Given the description of an element on the screen output the (x, y) to click on. 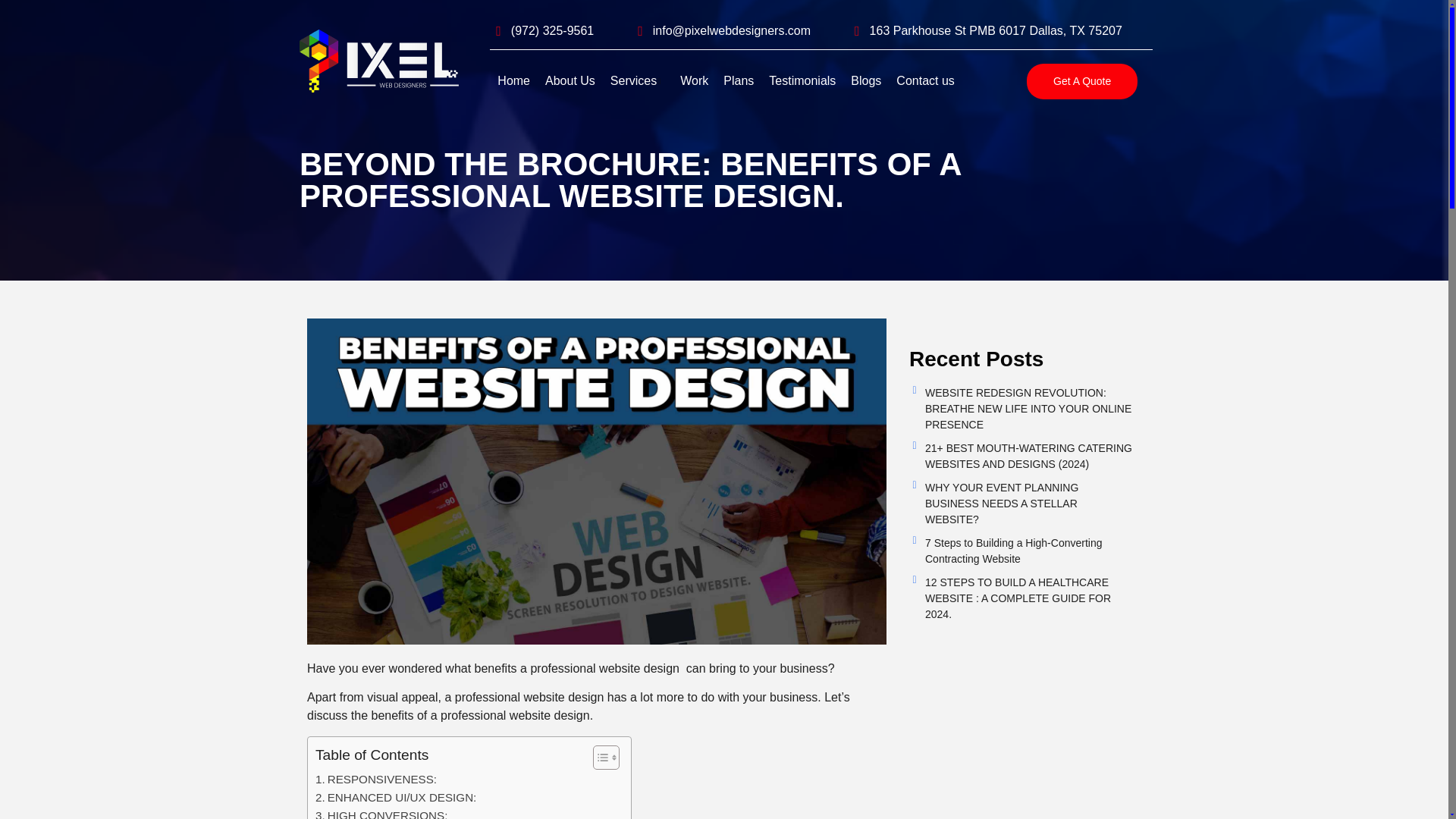
About Us (569, 81)
RESPONSIVENESS: (375, 779)
RESPONSIVENESS: (375, 779)
Work (694, 81)
Services (637, 81)
HIGH CONVERSIONS: (380, 812)
Testimonials (802, 81)
Plans (738, 81)
HIGH CONVERSIONS: (380, 812)
Home (513, 81)
Contact us (924, 81)
Get A Quote (1081, 81)
Blogs (865, 81)
